Given the description of an element on the screen output the (x, y) to click on. 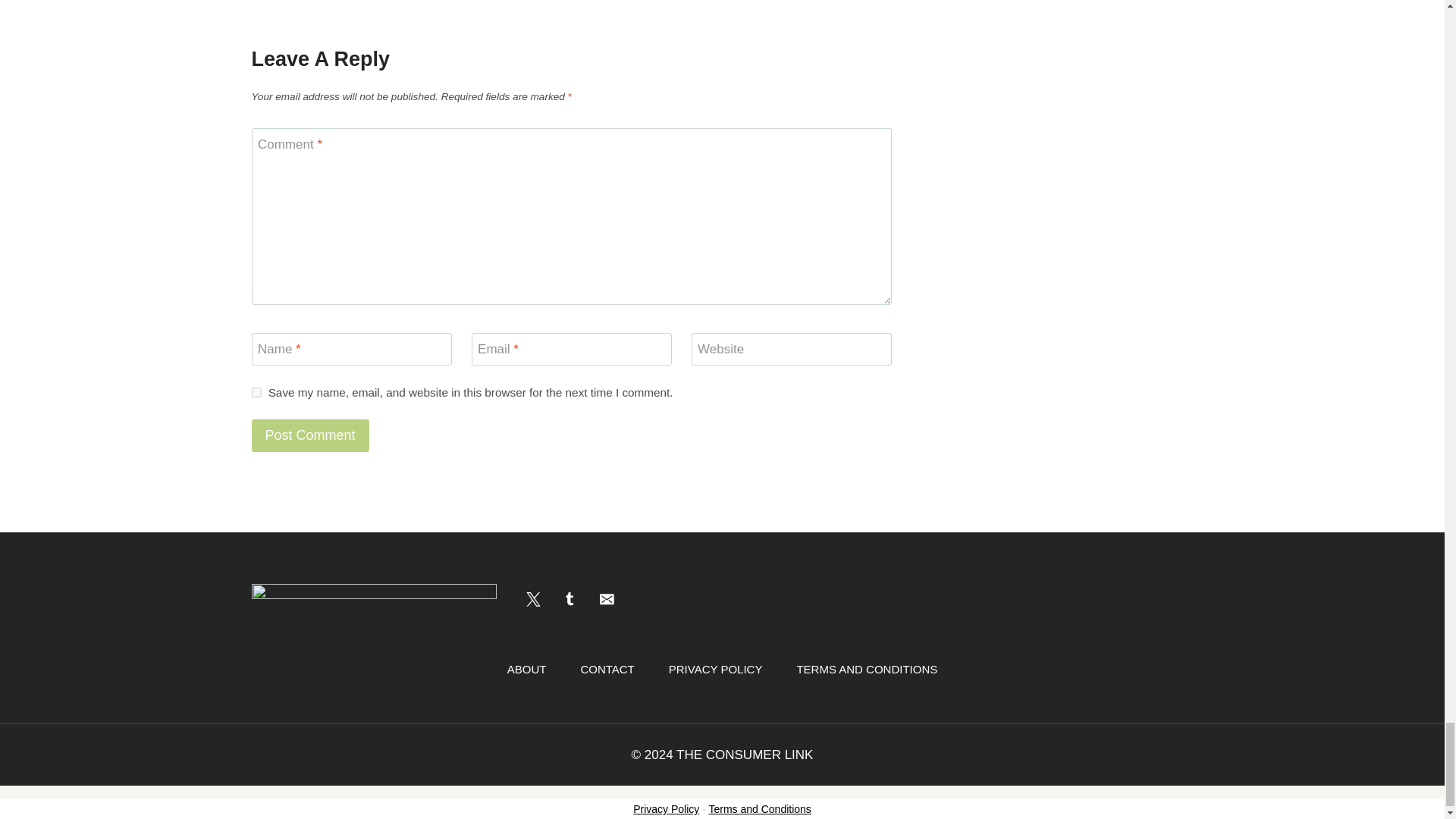
Post Comment (310, 435)
yes (256, 392)
